Given the description of an element on the screen output the (x, y) to click on. 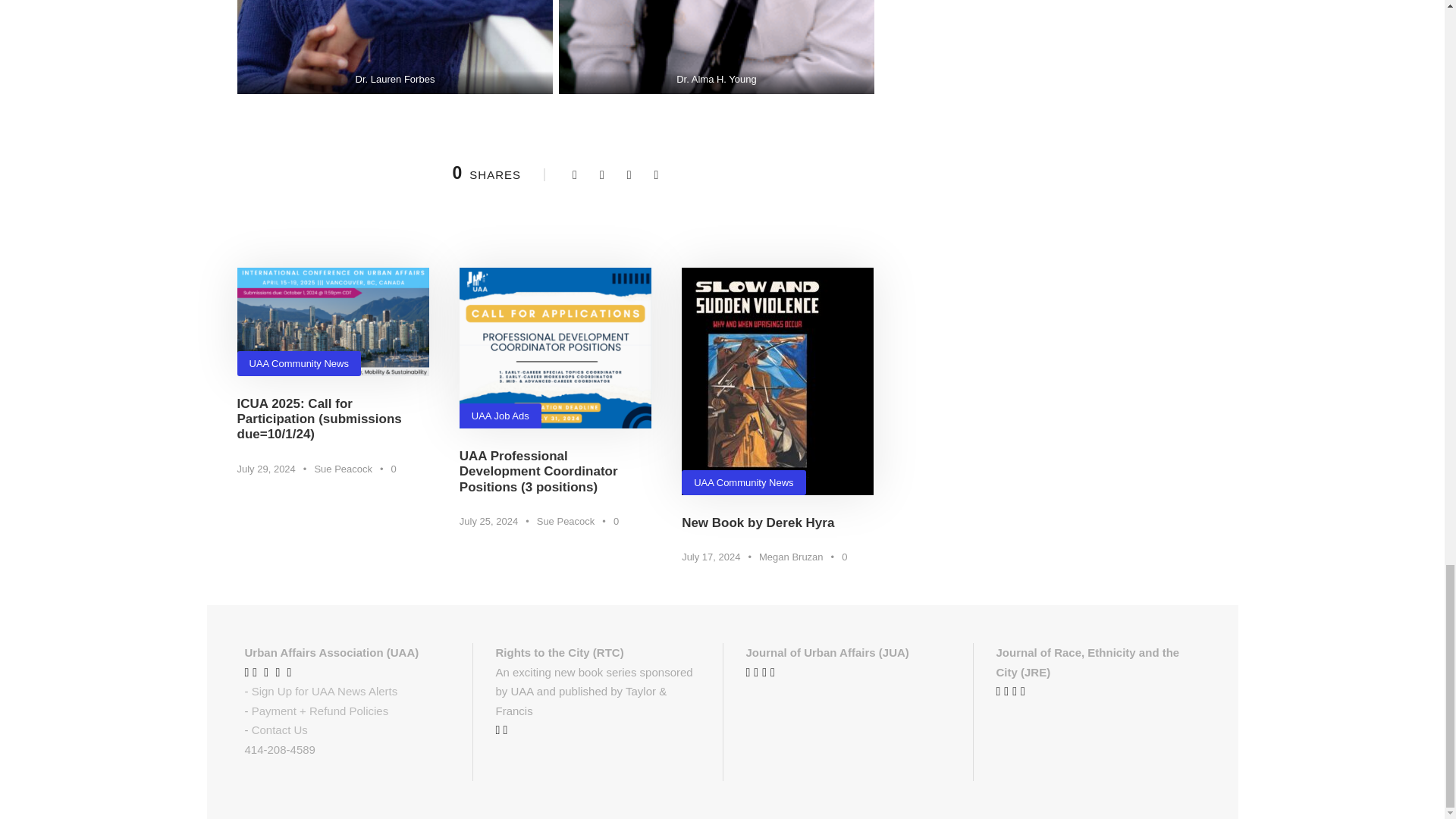
Posts by Sue Peacock (343, 469)
Posts by Megan Bruzan (791, 556)
profDevCoordinators (555, 347)
Posts by Sue Peacock (566, 521)
